Given the description of an element on the screen output the (x, y) to click on. 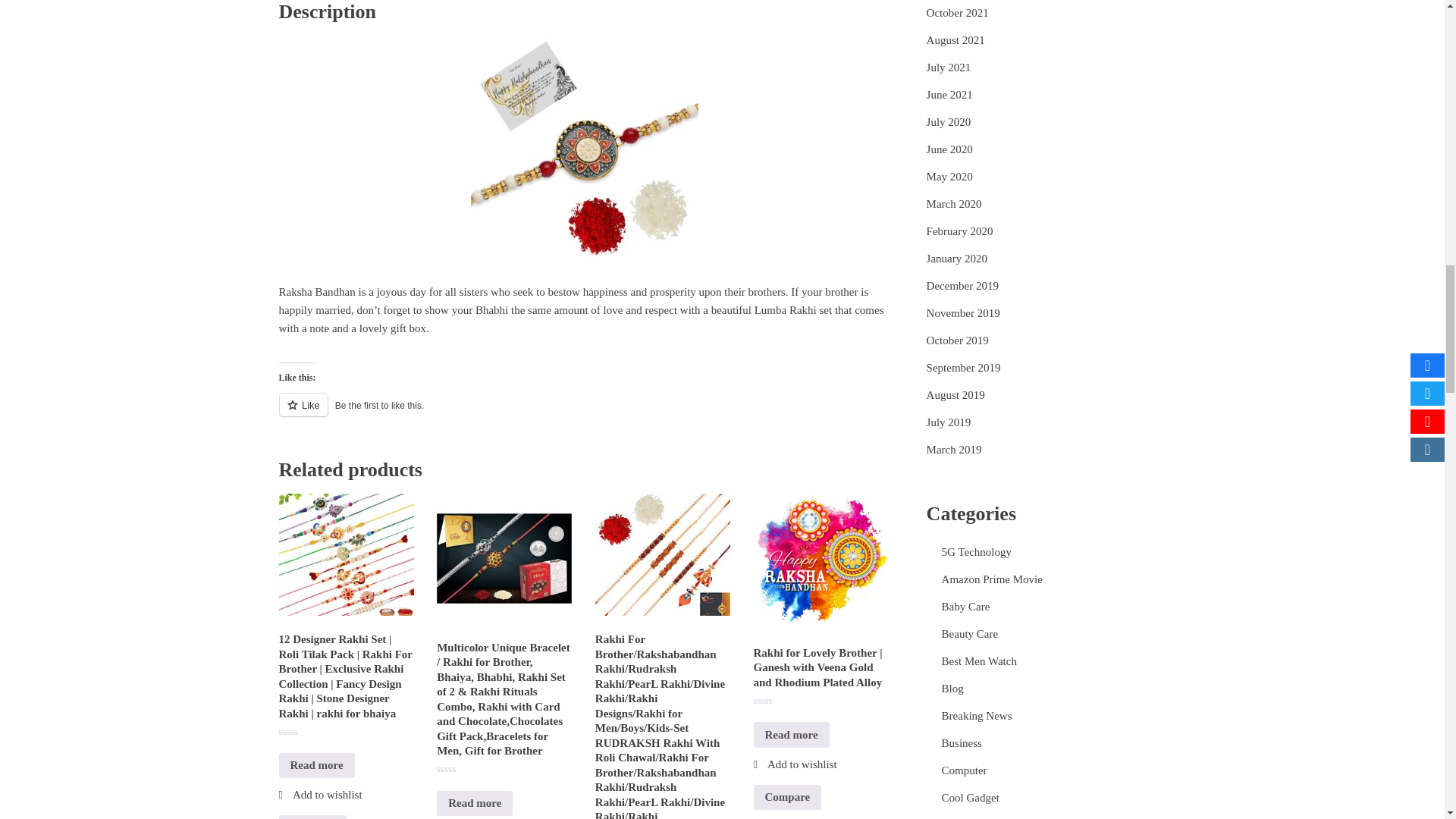
Compare (313, 816)
Read more (317, 765)
Like or Reblog (585, 413)
Add to wishlist (320, 794)
